Given the description of an element on the screen output the (x, y) to click on. 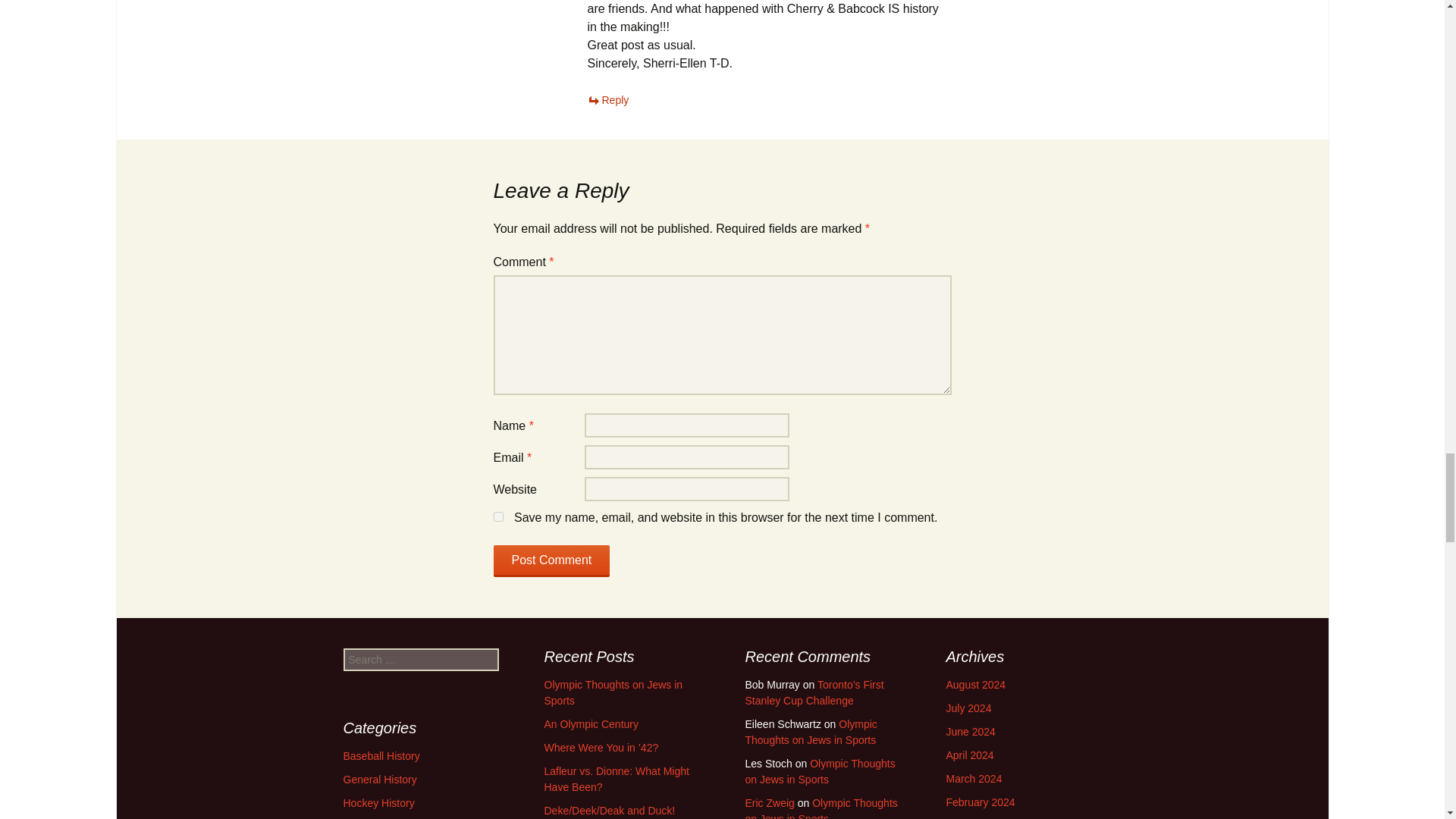
yes (497, 516)
Lafleur vs. Dionne: What Might Have Been? (616, 778)
Olympic Thoughts on Jews in Sports (613, 692)
An Olympic Century (591, 724)
Reply (607, 100)
Post Comment (551, 561)
Post Comment (551, 561)
